Given the description of an element on the screen output the (x, y) to click on. 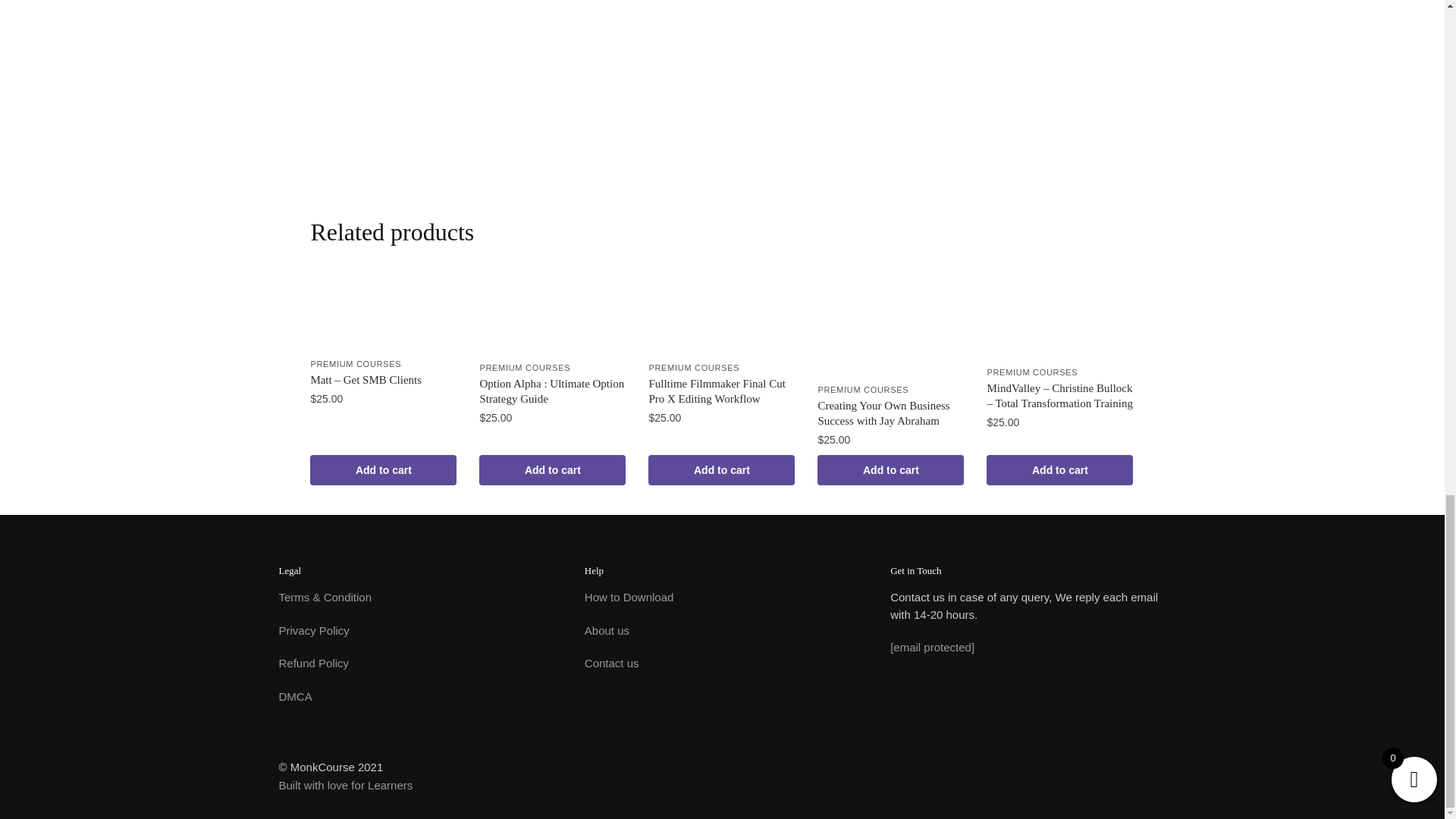
Add to cart (552, 470)
Fulltime Filmmaker Final Cut Pro X Editing Workflow (720, 390)
PREMIUM COURSES (524, 367)
PREMIUM COURSES (693, 367)
PREMIUM COURSES (355, 363)
Add to cart (383, 470)
Option Alpha : Ultimate Option Strategy Guide (552, 390)
